Given the description of an element on the screen output the (x, y) to click on. 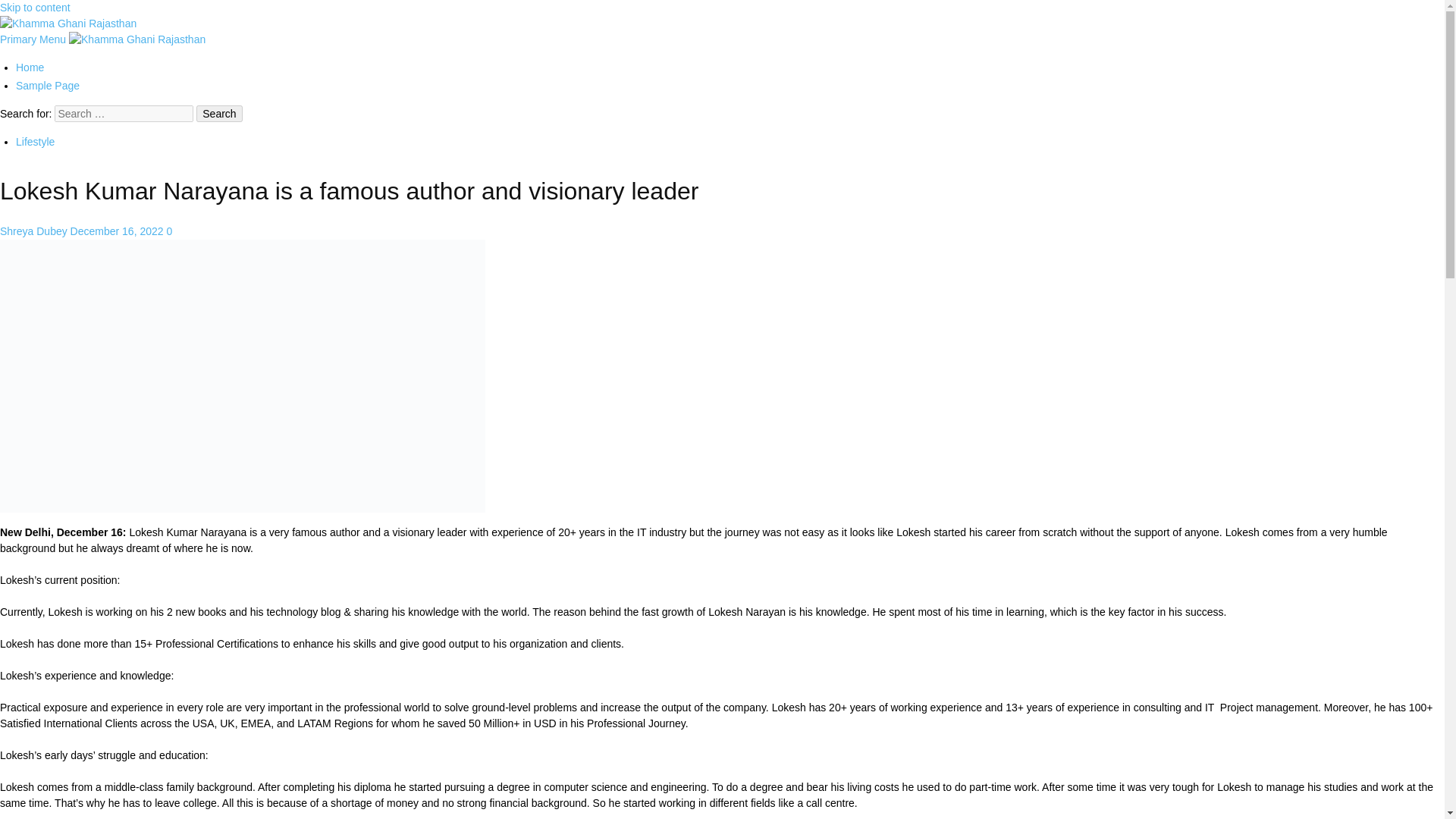
Search (218, 113)
Home (29, 67)
Primary Menu (34, 39)
Lifestyle (35, 141)
December 16, 2022 (118, 231)
Sample Page (48, 85)
Search (218, 113)
Shreya Dubey (34, 231)
Search (218, 113)
Skip to content (34, 7)
